Given the description of an element on the screen output the (x, y) to click on. 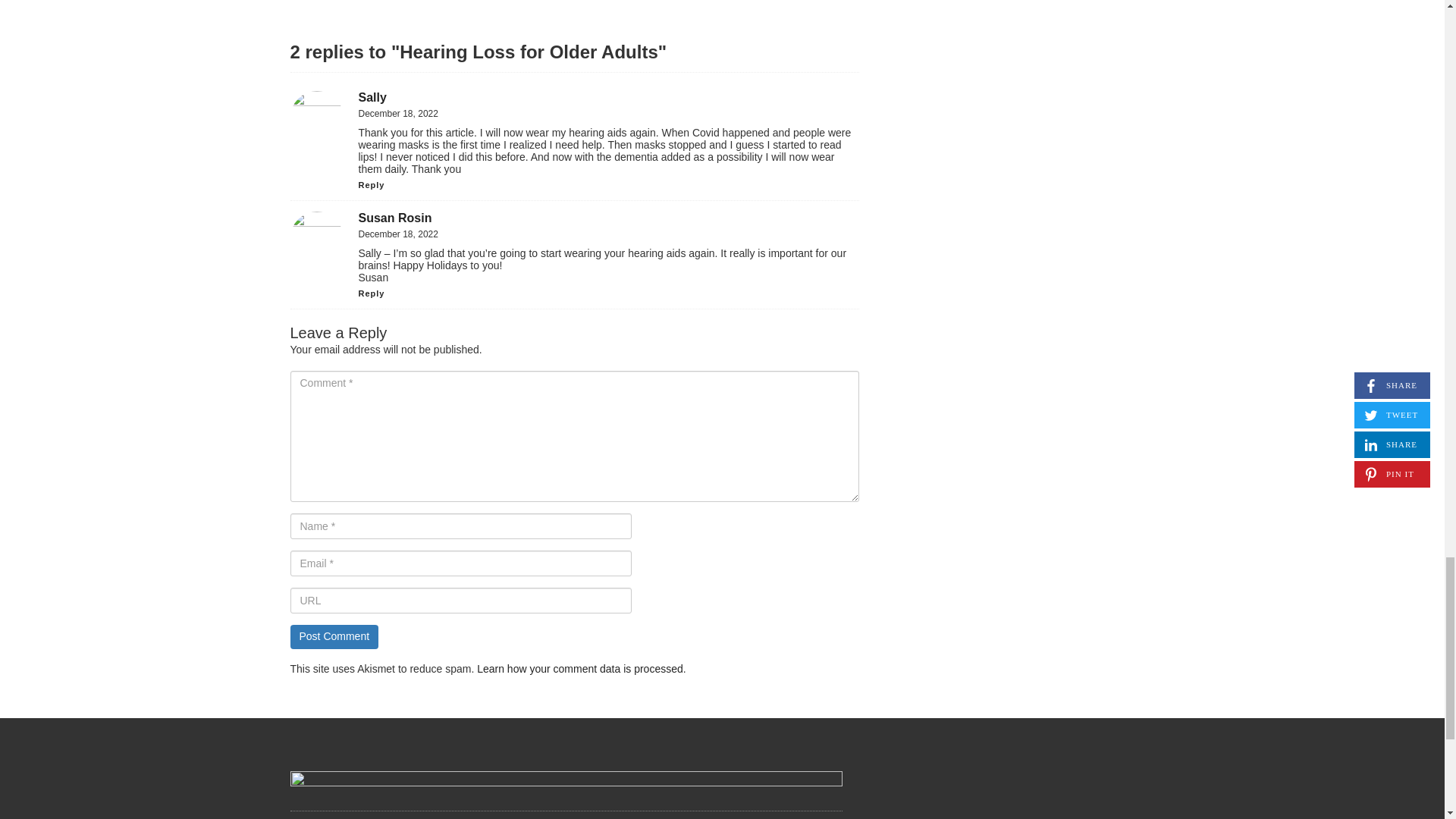
Post Comment (333, 636)
Learn how your comment data is processed (579, 668)
Reply (371, 184)
Reply (371, 293)
Post Comment (333, 636)
